Given the description of an element on the screen output the (x, y) to click on. 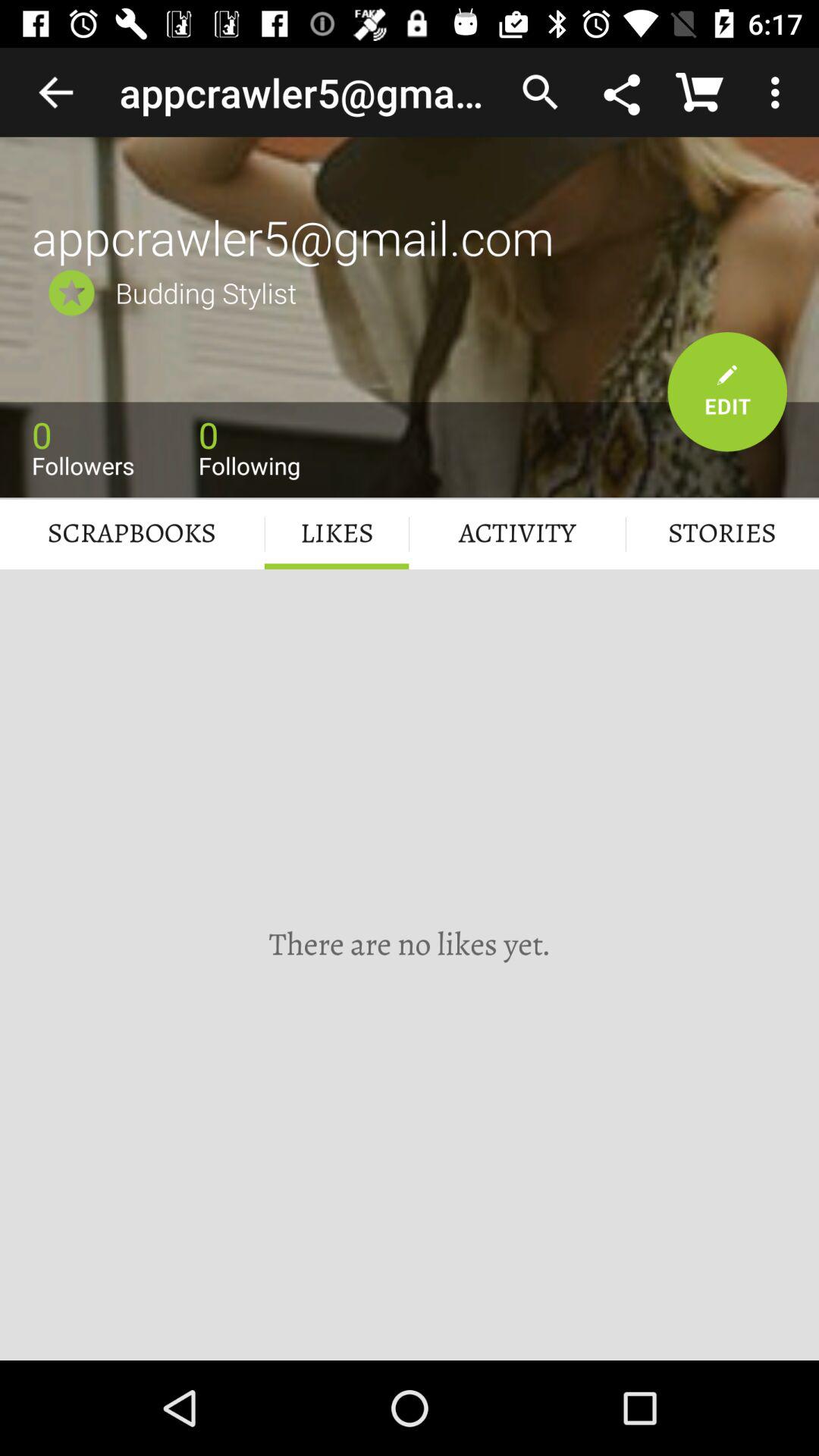
share the article (623, 91)
